Given the description of an element on the screen output the (x, y) to click on. 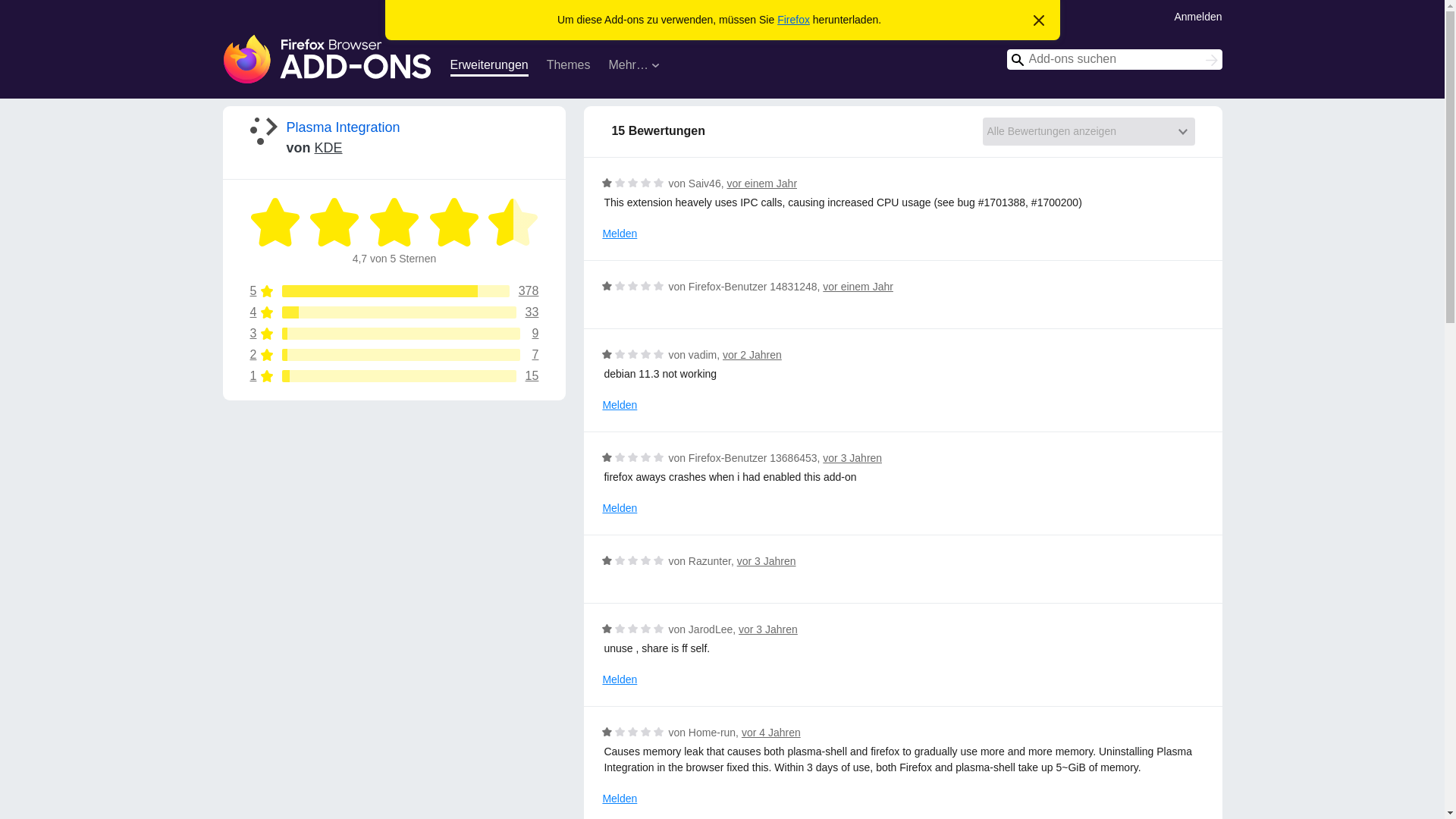
vor 3 Jahren (766, 561)
Melden (619, 233)
Plasma Integration (343, 127)
Bewertet mit 4,7 von 5 Sternen (275, 222)
Bewertet mit 4,7 von 5 Sternen (394, 222)
vor einem Jahr (394, 312)
Lesen Sie die 15 Ein-Stern-Bewertungen (761, 183)
Themes (394, 376)
Lesen Sie alle 33 Vier-Sterne-Bewertungen (569, 66)
19. Apr. 2023 20:45 (394, 312)
Melden (761, 183)
Bewertet mit 4,7 von 5 Sternen (619, 798)
Melden (333, 222)
